Given the description of an element on the screen output the (x, y) to click on. 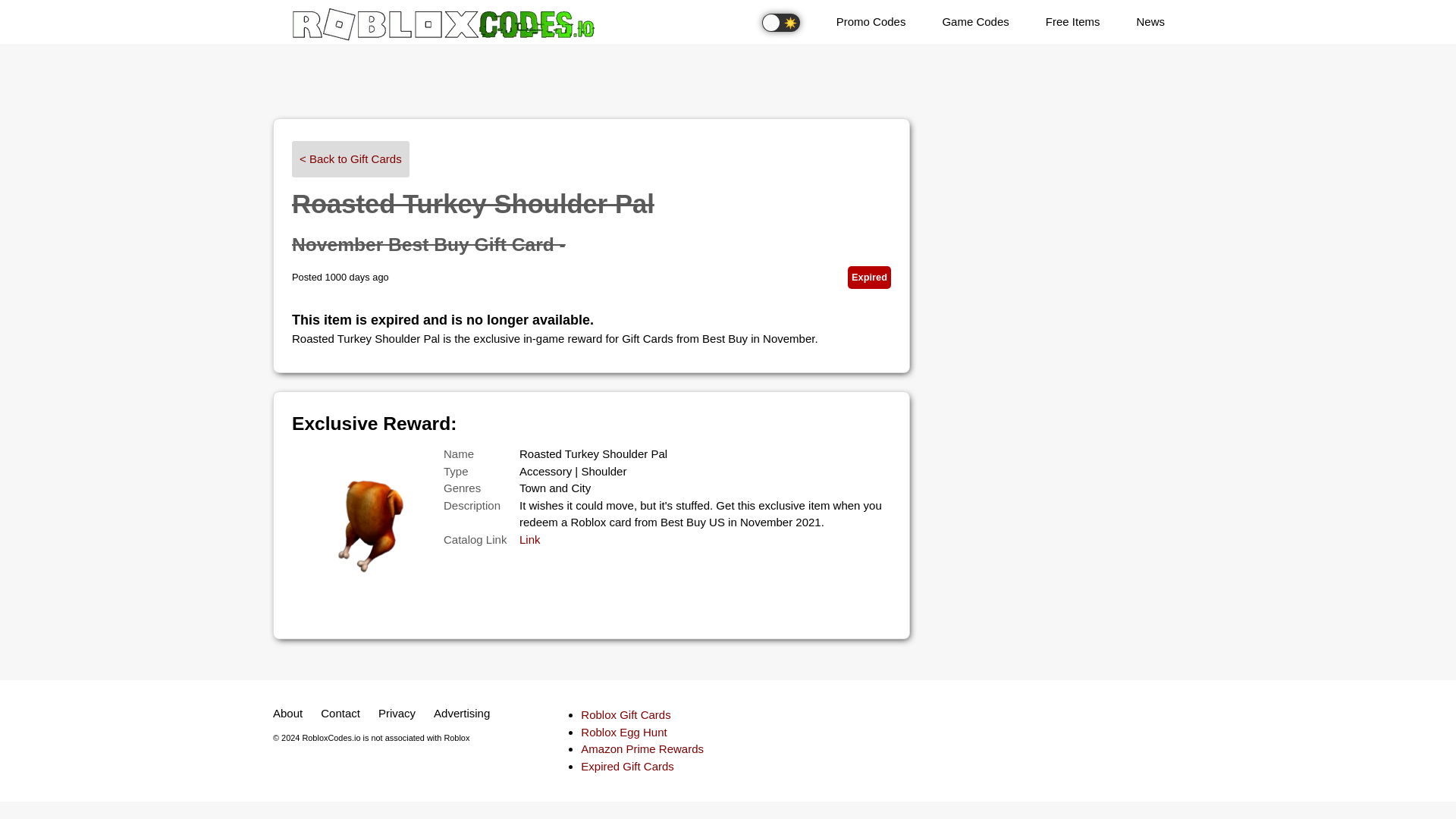
Link (529, 539)
Promo Codes (871, 22)
Free Items (1072, 22)
Advertising (462, 713)
Expired Gift Cards (627, 766)
Roblox Egg Hunt (623, 731)
Privacy (397, 713)
Roblox Promo Codes (871, 22)
News (1150, 22)
Roblox Free Items (1072, 22)
Roblox News Posts (1150, 22)
Roblox Game Promo Codes (974, 22)
Contact (340, 713)
Game Codes (974, 22)
About (287, 713)
